Given the description of an element on the screen output the (x, y) to click on. 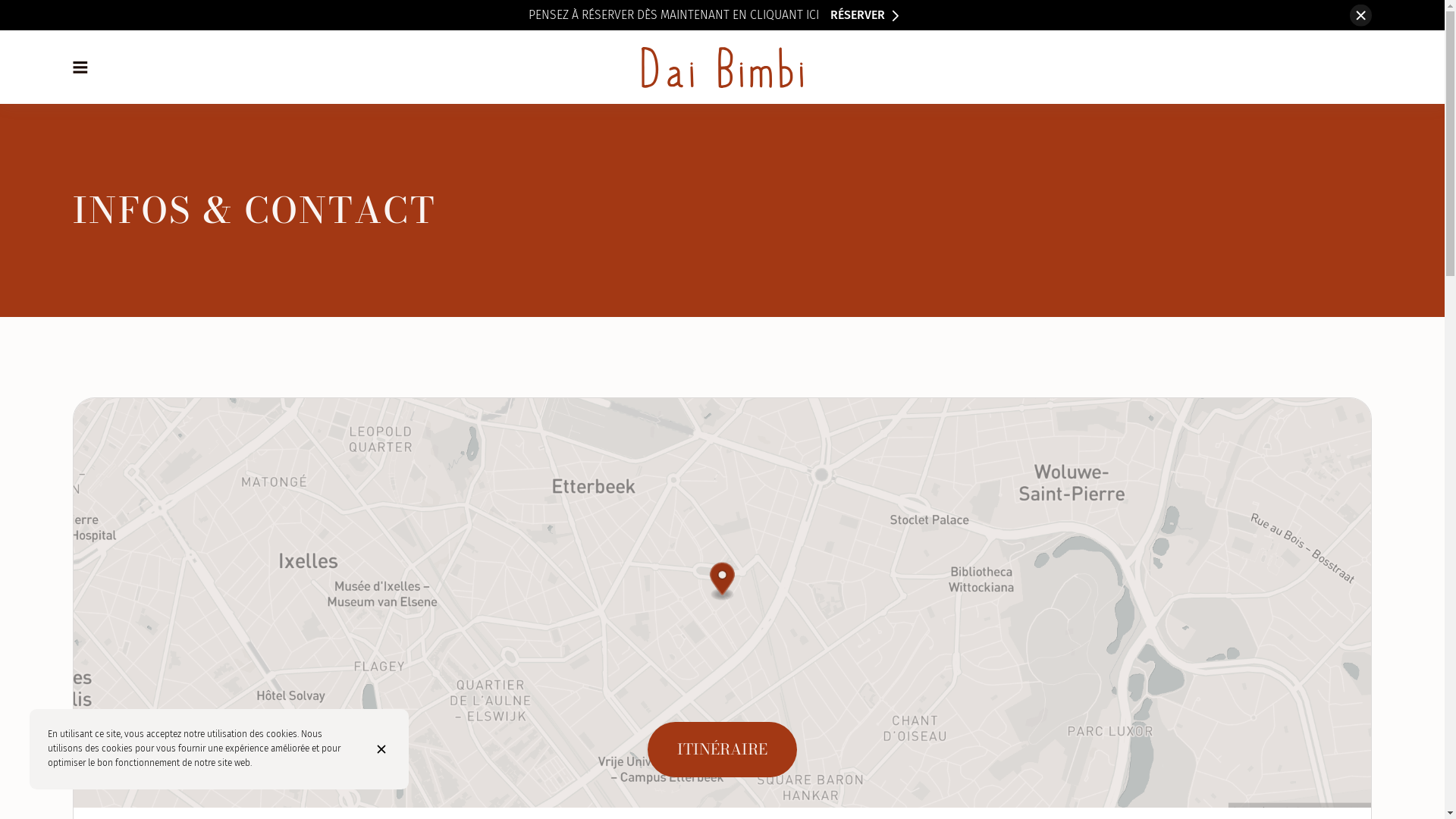
Logo de Dai Bimbi Element type: hover (721, 67)
DAI BIMBI Element type: text (721, 67)
Carte indiquant l'adresse de Dai Bimbi Element type: hover (722, 602)
